Given the description of an element on the screen output the (x, y) to click on. 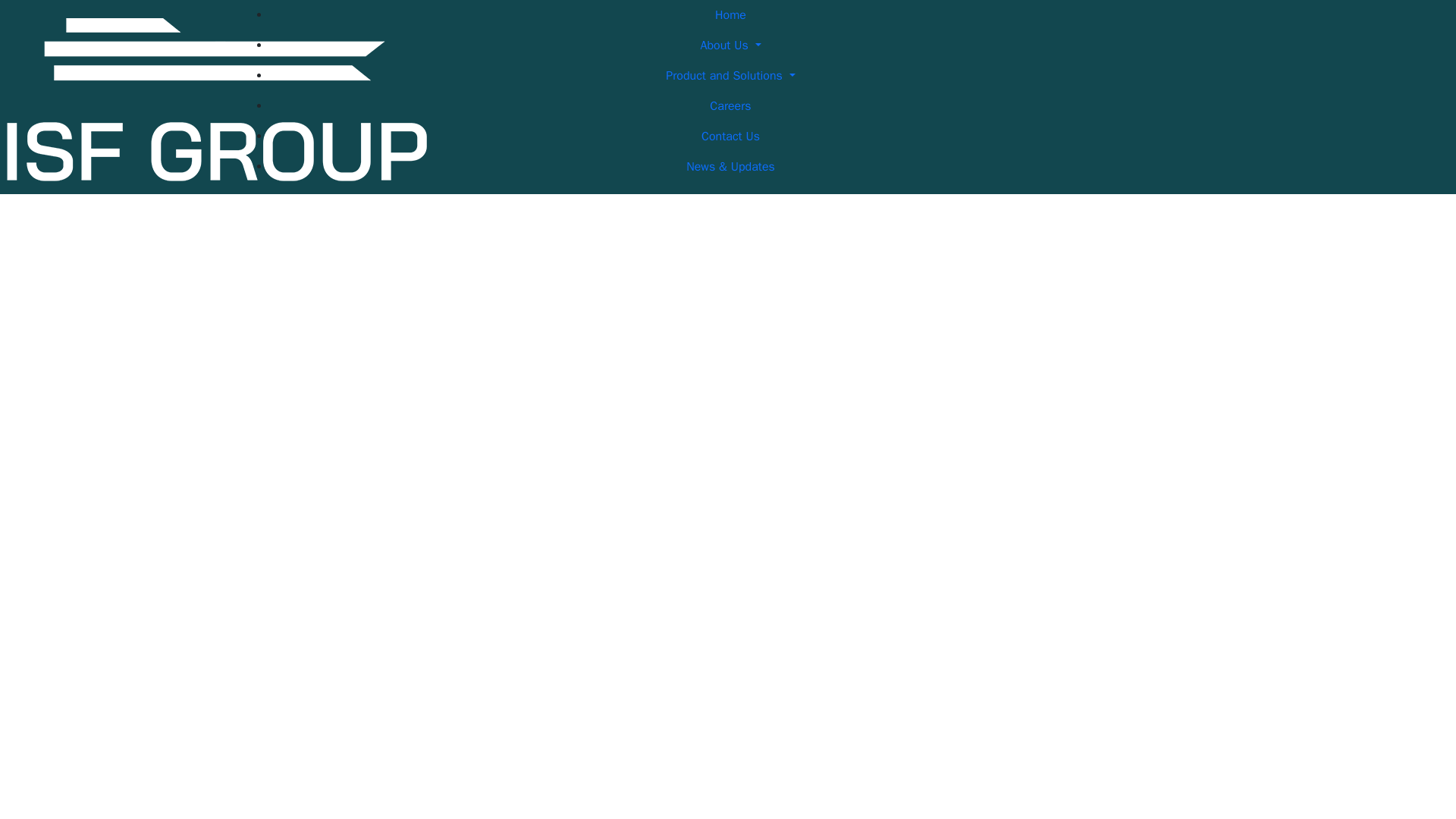
Product and Solutions (730, 75)
Home (730, 15)
About Us (730, 45)
Contact Us (730, 136)
Careers (730, 105)
